Given the description of an element on the screen output the (x, y) to click on. 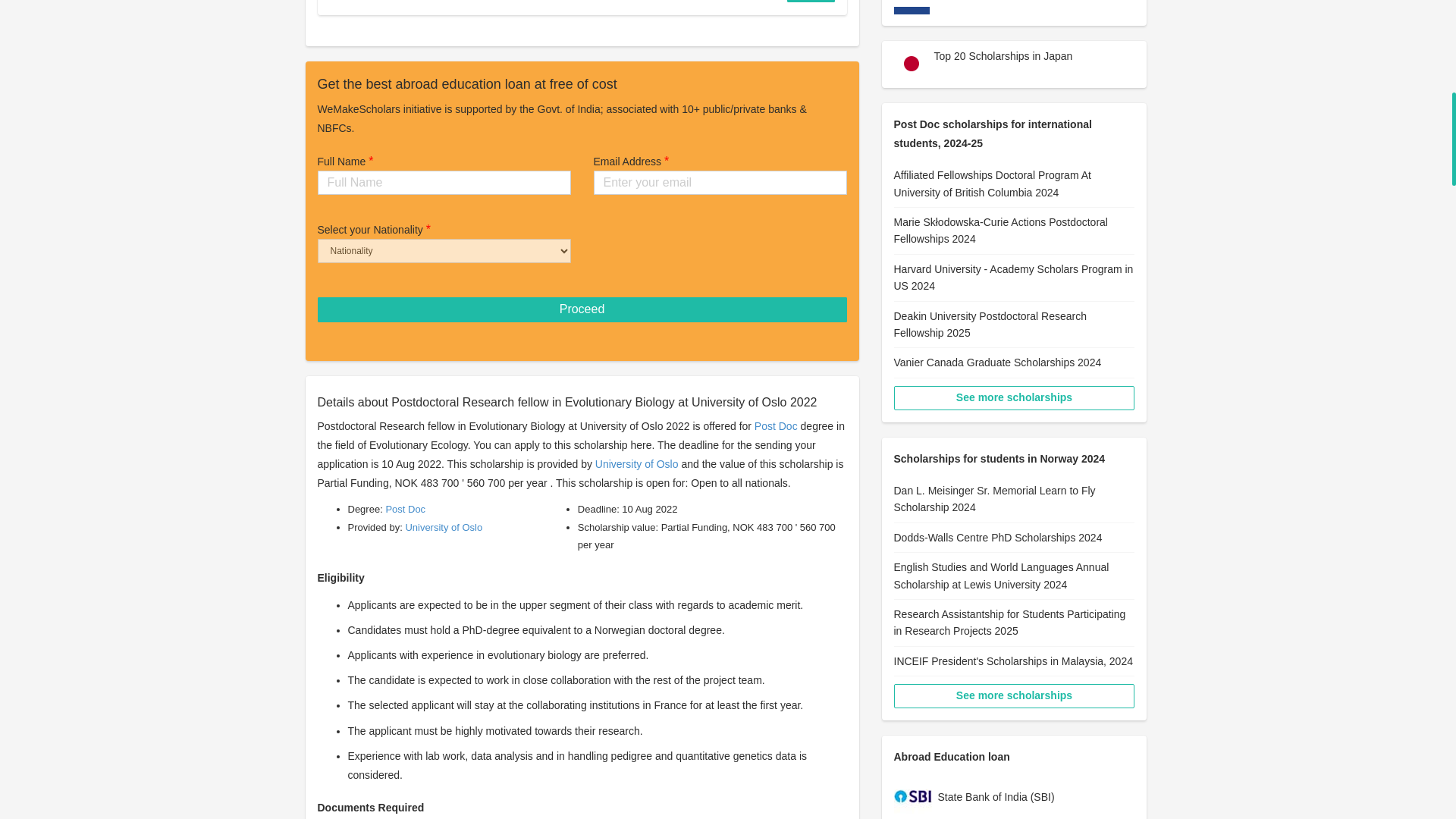
Login to view Universities, Scholarship, internship abroad (810, 1)
